Given the description of an element on the screen output the (x, y) to click on. 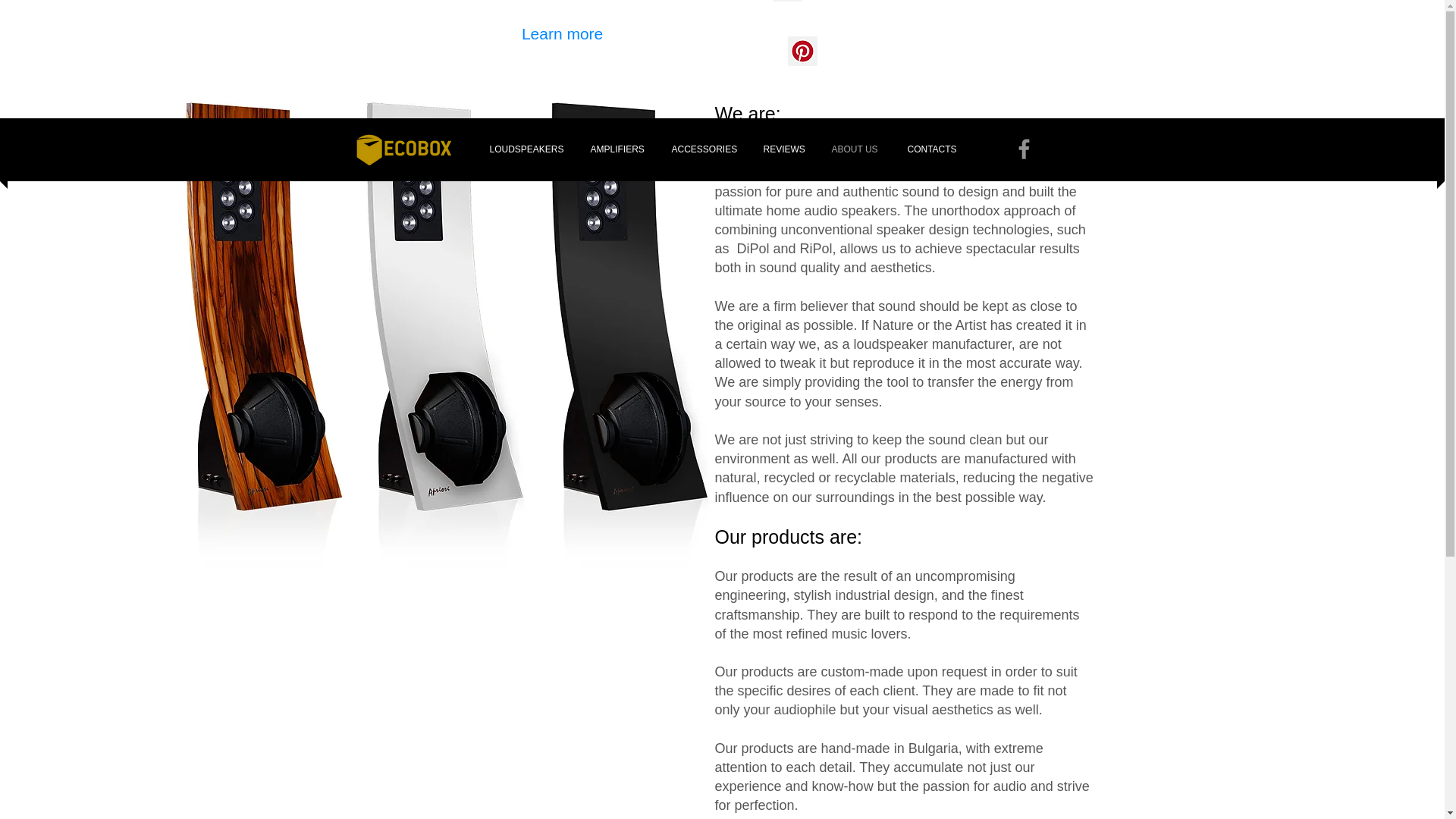
ABOUT US (854, 148)
CONTACTS (931, 148)
Learn more  (564, 33)
REVIEWS (782, 148)
